Given the description of an element on the screen output the (x, y) to click on. 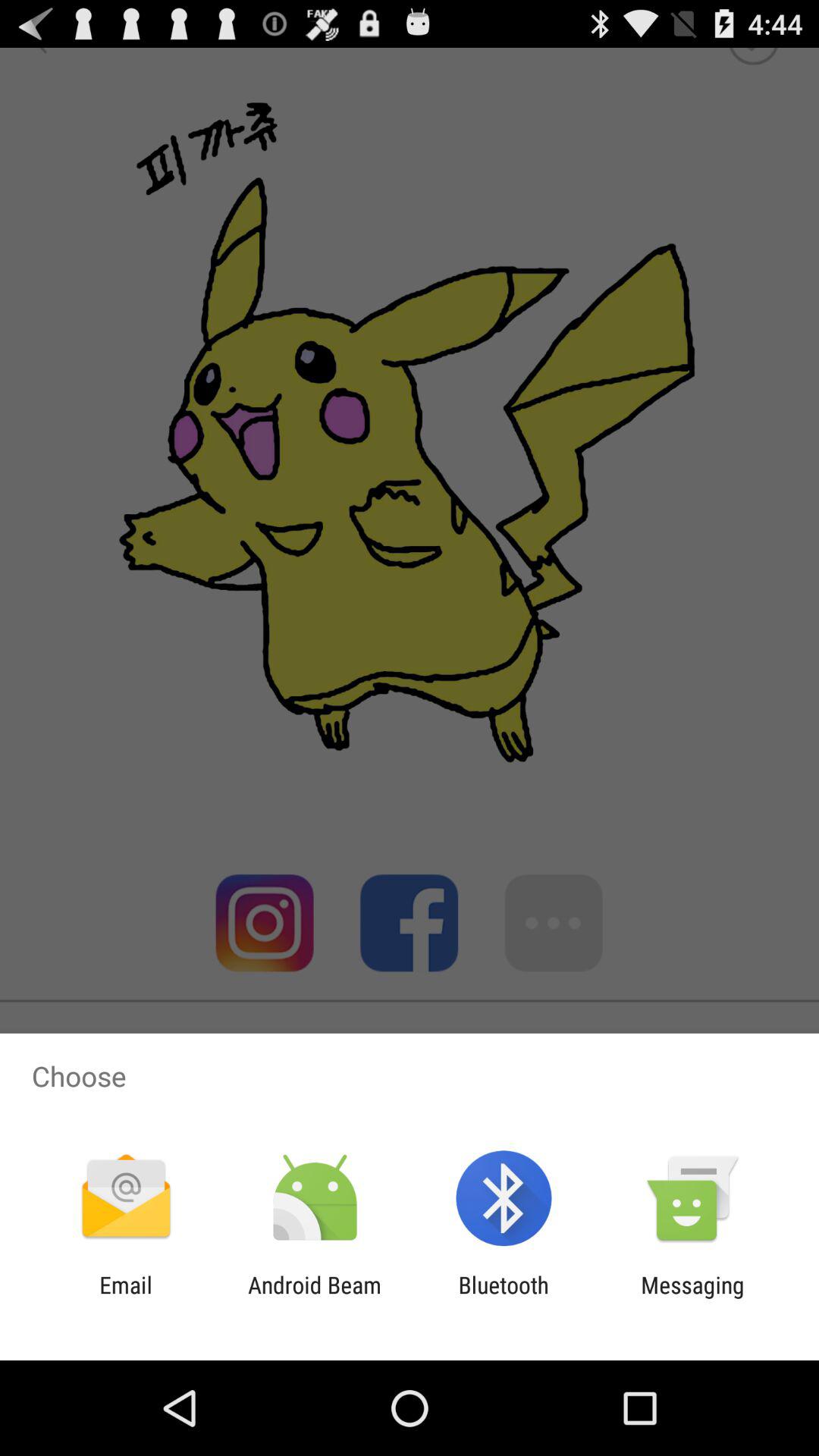
launch the item next to bluetooth item (314, 1298)
